Given the description of an element on the screen output the (x, y) to click on. 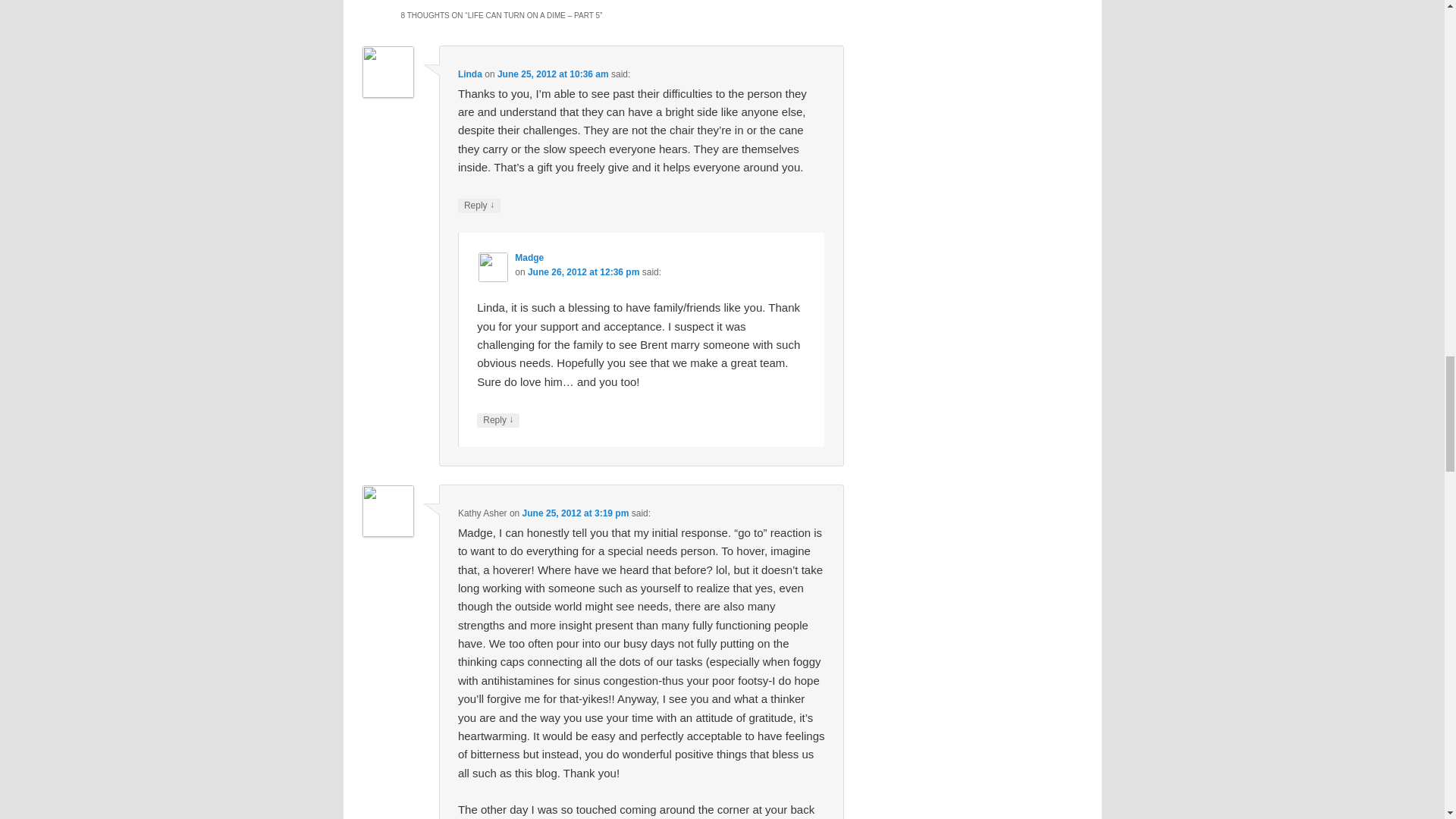
June 26, 2012 at 12:36 pm (583, 271)
Madge (529, 257)
June 25, 2012 at 3:19 pm (575, 512)
Linda (469, 73)
June 25, 2012 at 10:36 am (552, 73)
